Given the description of an element on the screen output the (x, y) to click on. 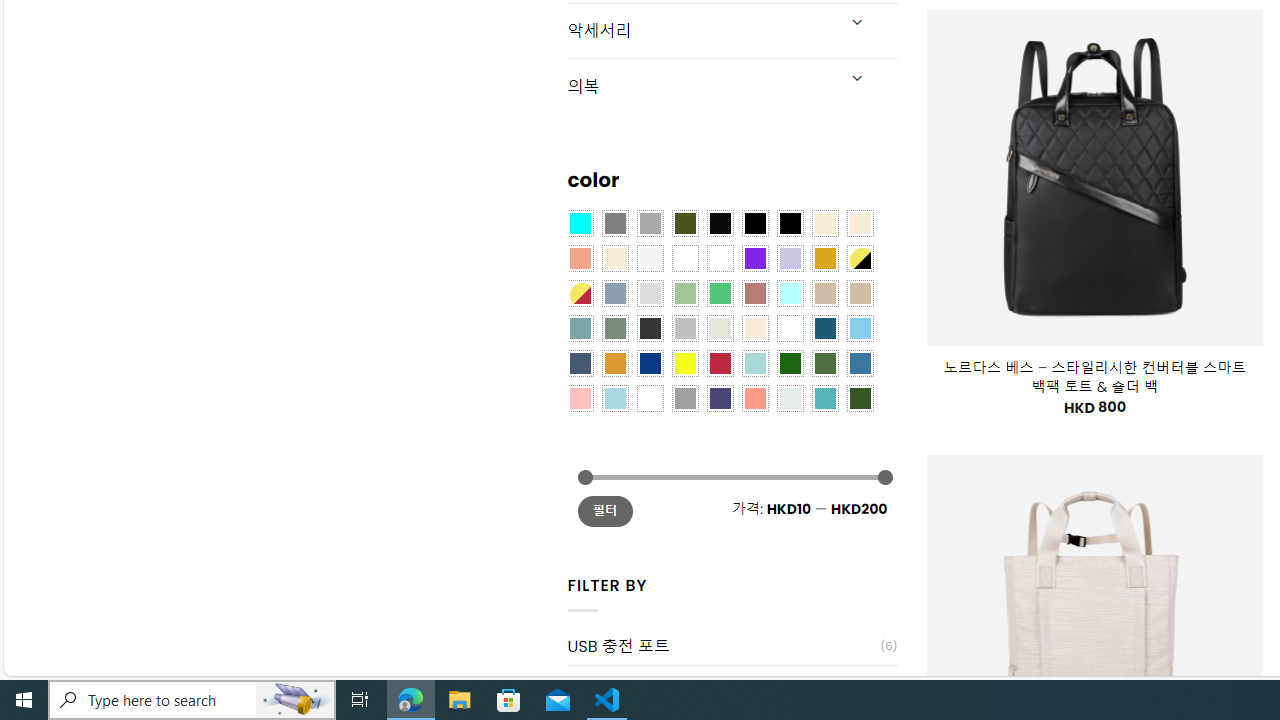
Dull Nickle (789, 398)
